Given the description of an element on the screen output the (x, y) to click on. 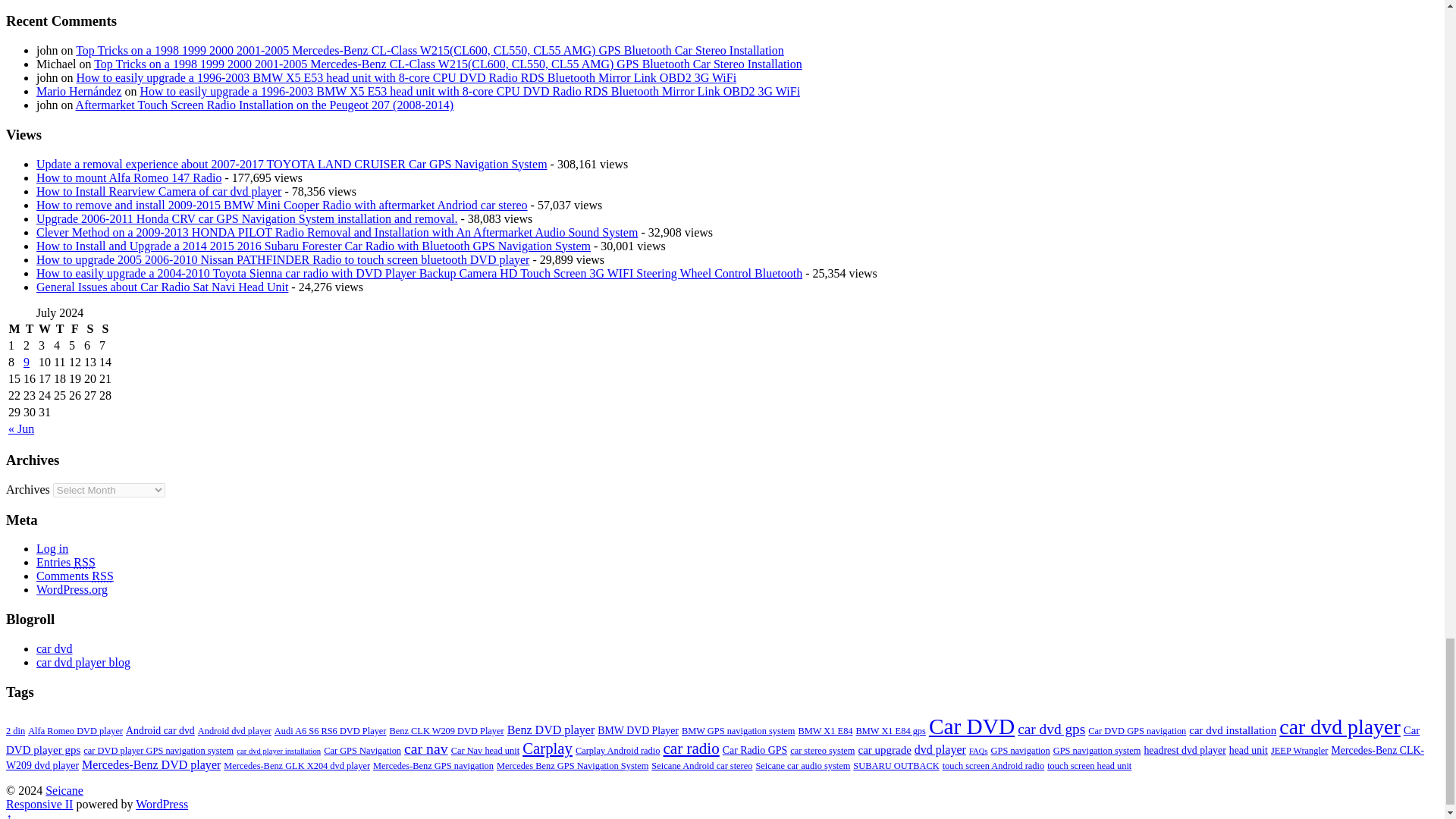
How to mount Alfa Romeo 147 Radio (128, 176)
